Given the description of an element on the screen output the (x, y) to click on. 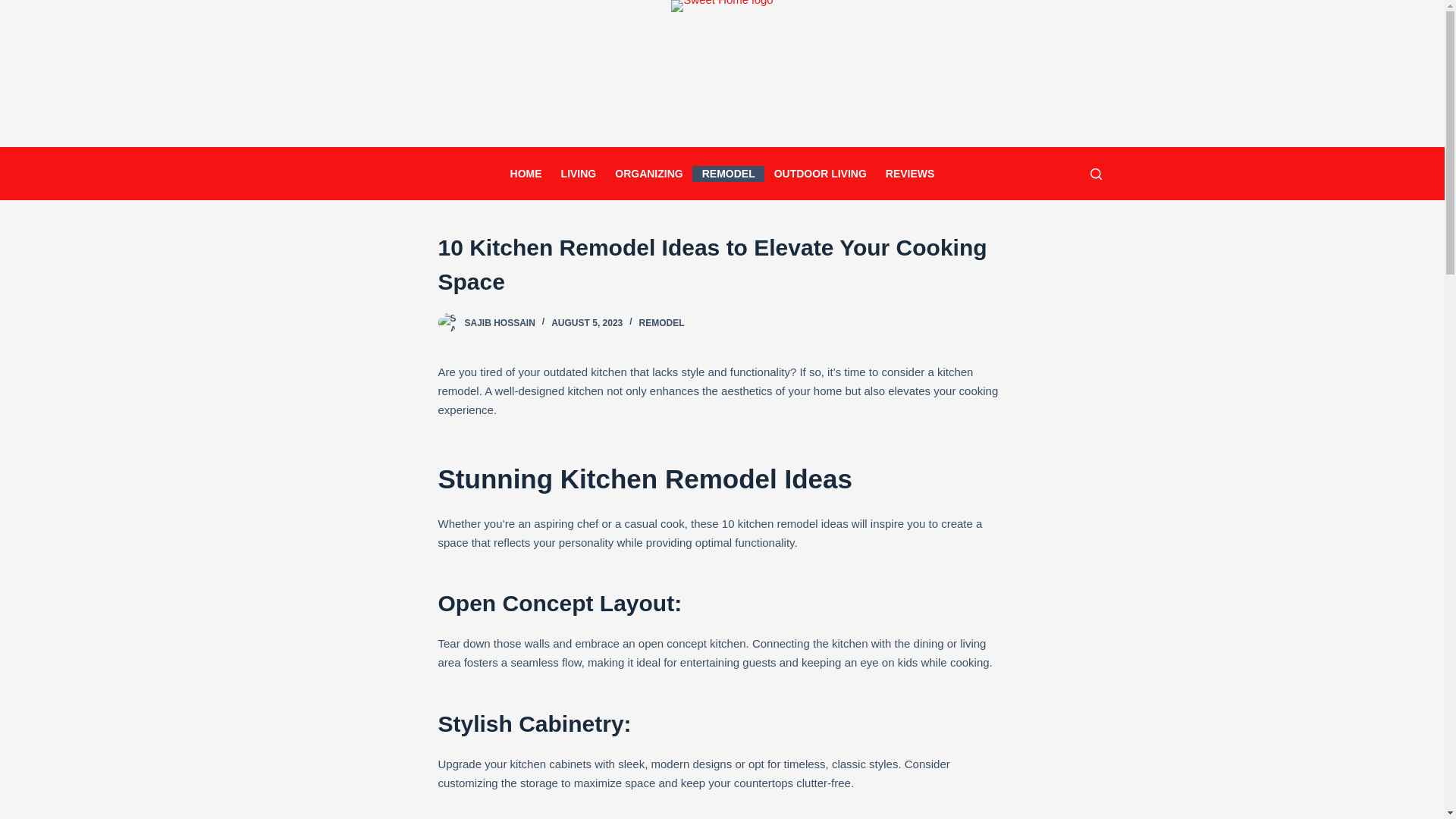
Skip to content (15, 7)
REMODEL (661, 322)
10 Kitchen Remodel Ideas to Elevate Your Cooking Space (722, 264)
HOME (525, 172)
ORGANIZING (649, 172)
OUTDOOR LIVING (820, 172)
SAJIB HOSSAIN (499, 322)
LIVING (578, 172)
REVIEWS (909, 172)
Posts by Sajib Hossain (499, 322)
REMODEL (728, 172)
